Given the description of an element on the screen output the (x, y) to click on. 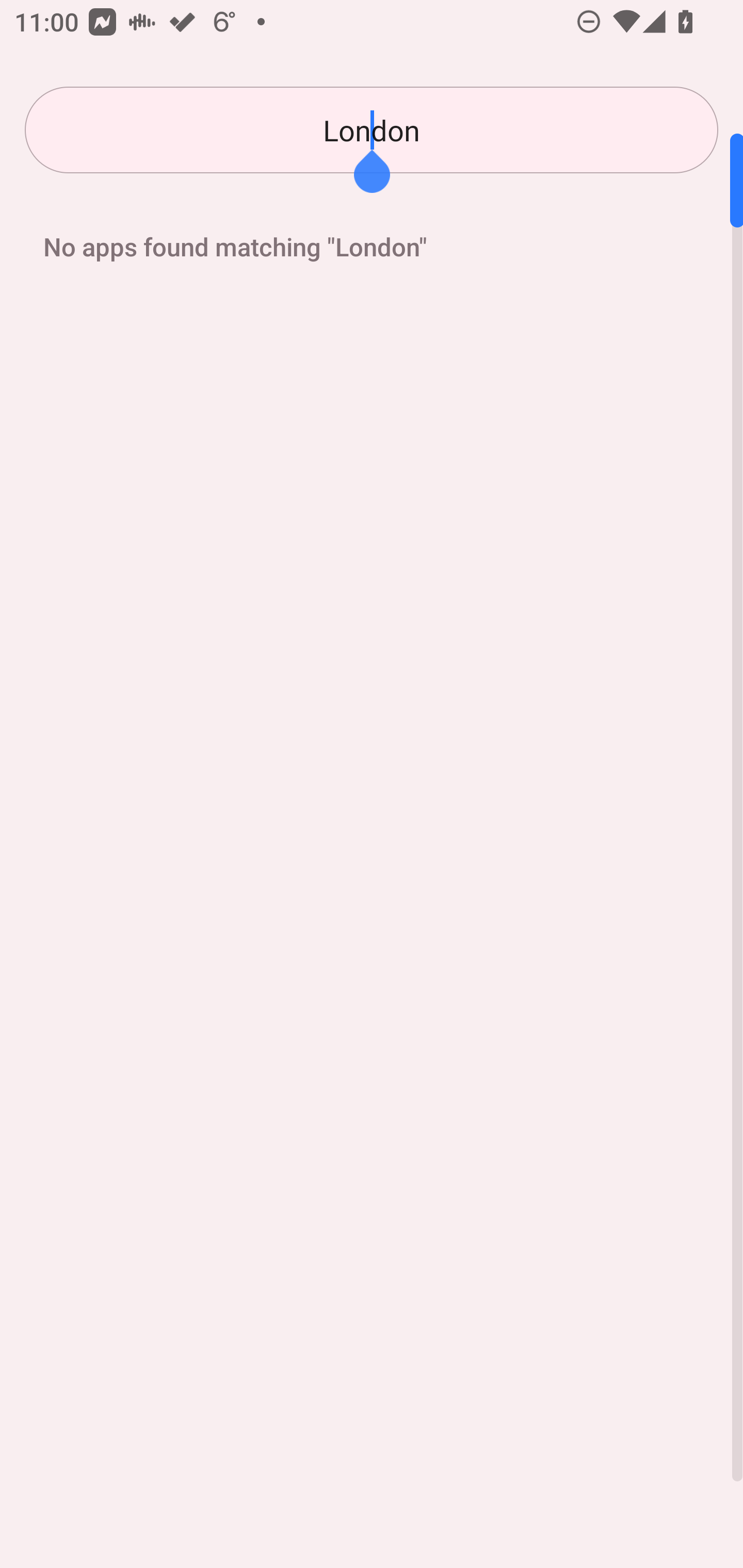
London (371, 130)
